Given the description of an element on the screen output the (x, y) to click on. 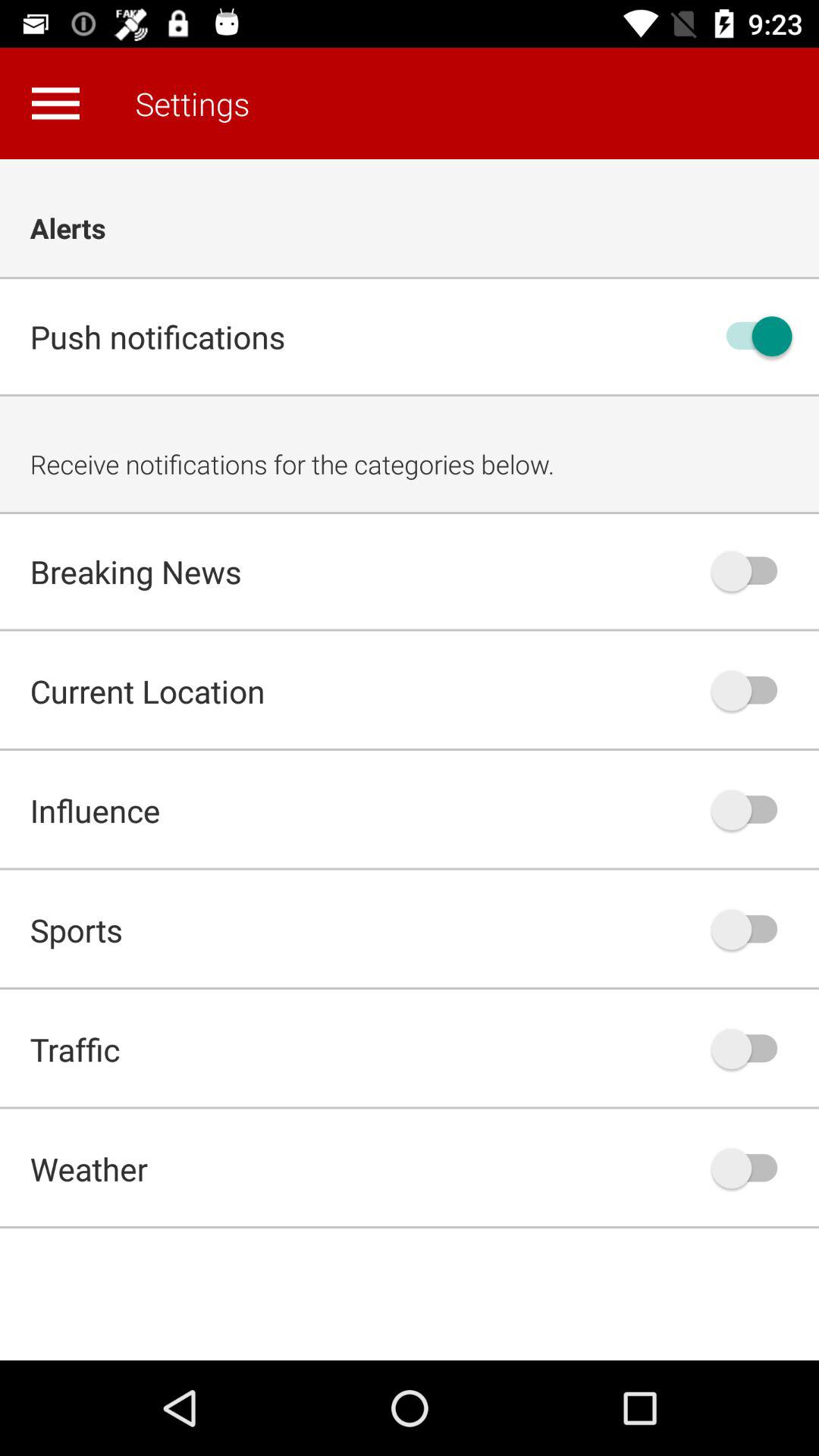
toggle sports alerts (751, 929)
